Given the description of an element on the screen output the (x, y) to click on. 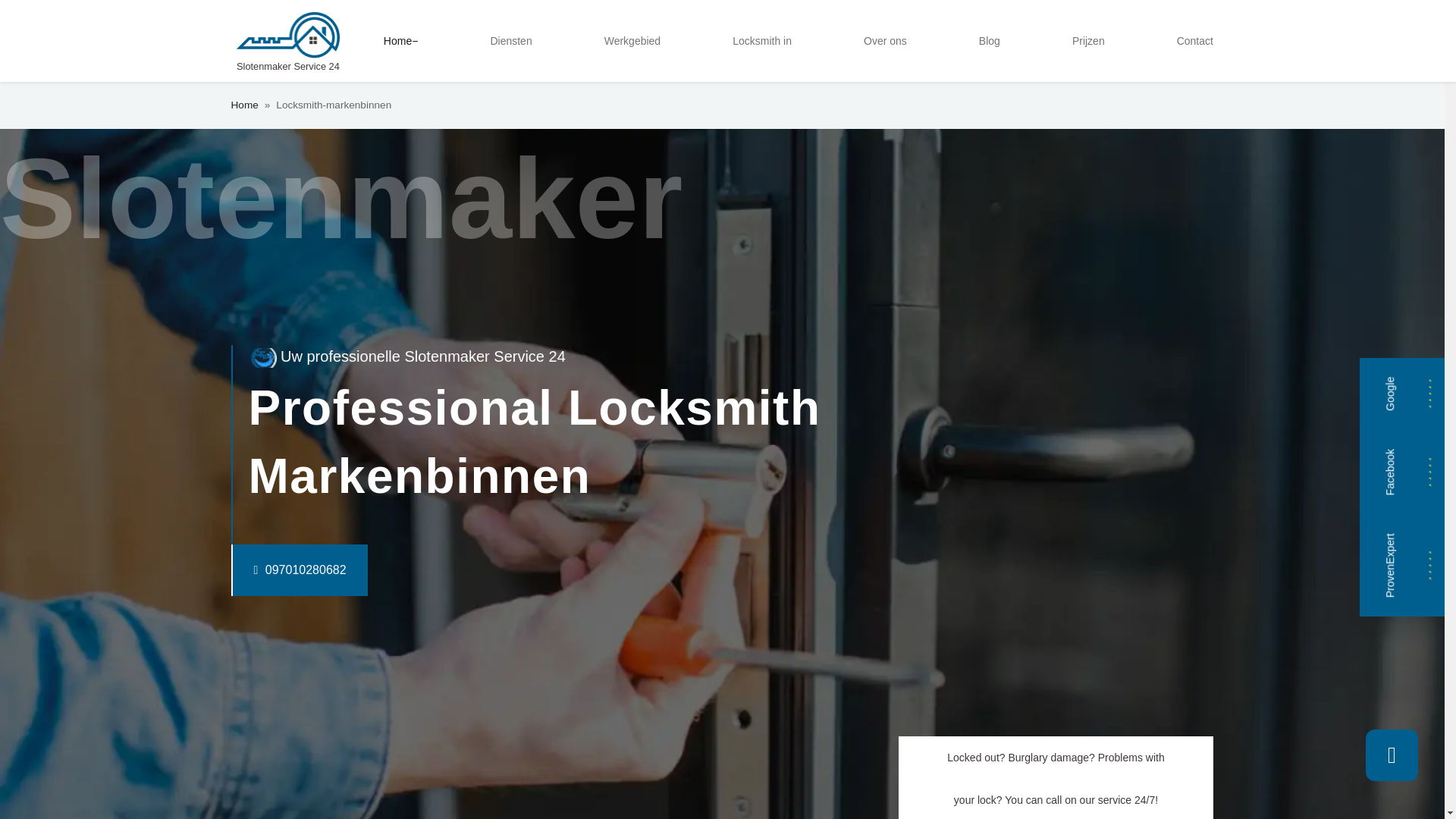
Slotenmaker Service 24 (287, 40)
097010280682 (268, 570)
Diensten (510, 40)
Locksmith in (761, 40)
Home (401, 40)
Home (243, 105)
Werkgebied (632, 40)
Prijzen (1087, 40)
Blog (989, 40)
Contact (1195, 40)
Over ons (884, 40)
